Given the description of an element on the screen output the (x, y) to click on. 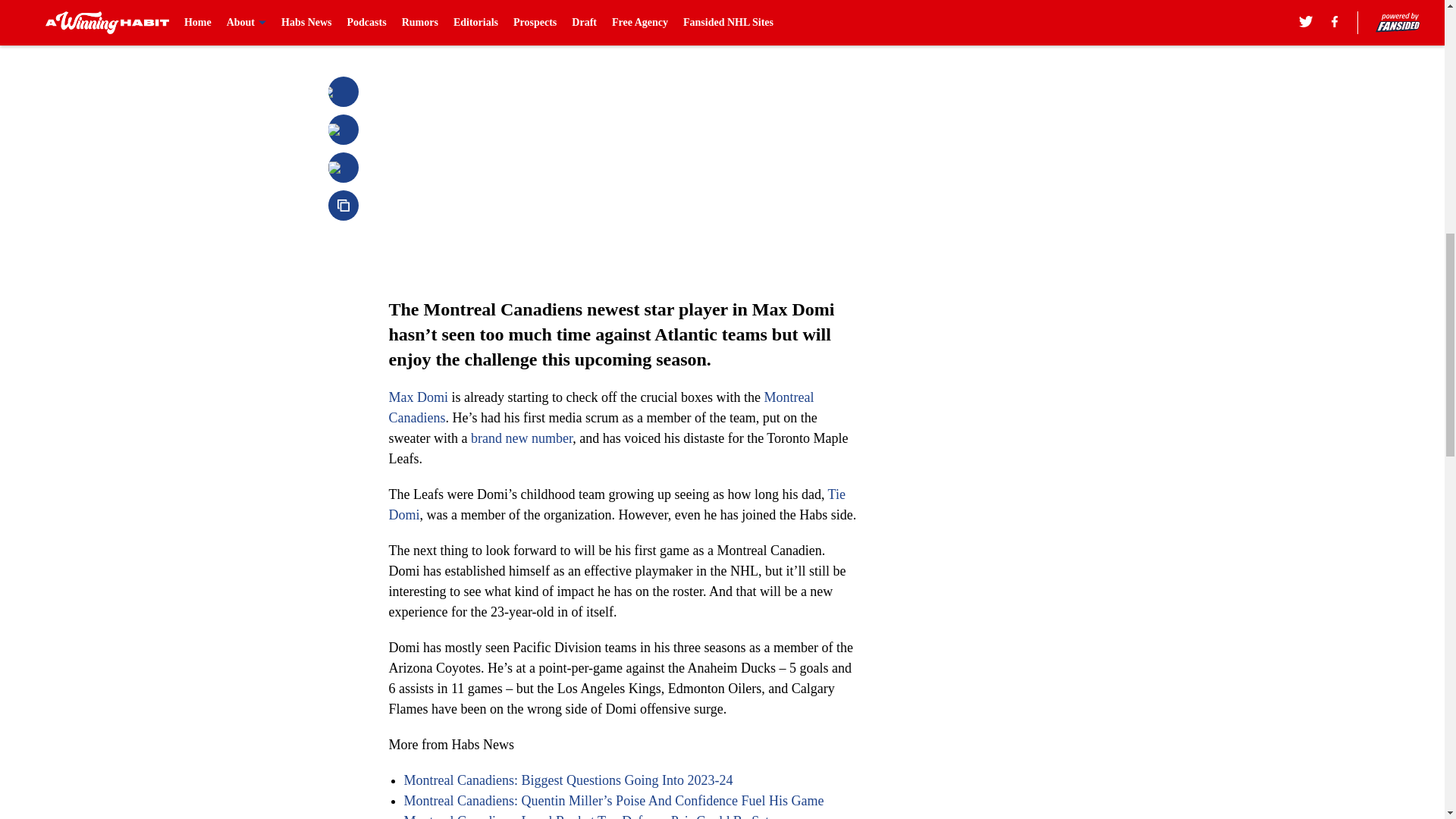
Montreal Canadiens: Biggest Questions Going Into 2023-24 (567, 780)
Montreal Canadiens (600, 407)
Tie Domi (616, 504)
brand new number (521, 437)
Max Domi (418, 396)
